Given the description of an element on the screen output the (x, y) to click on. 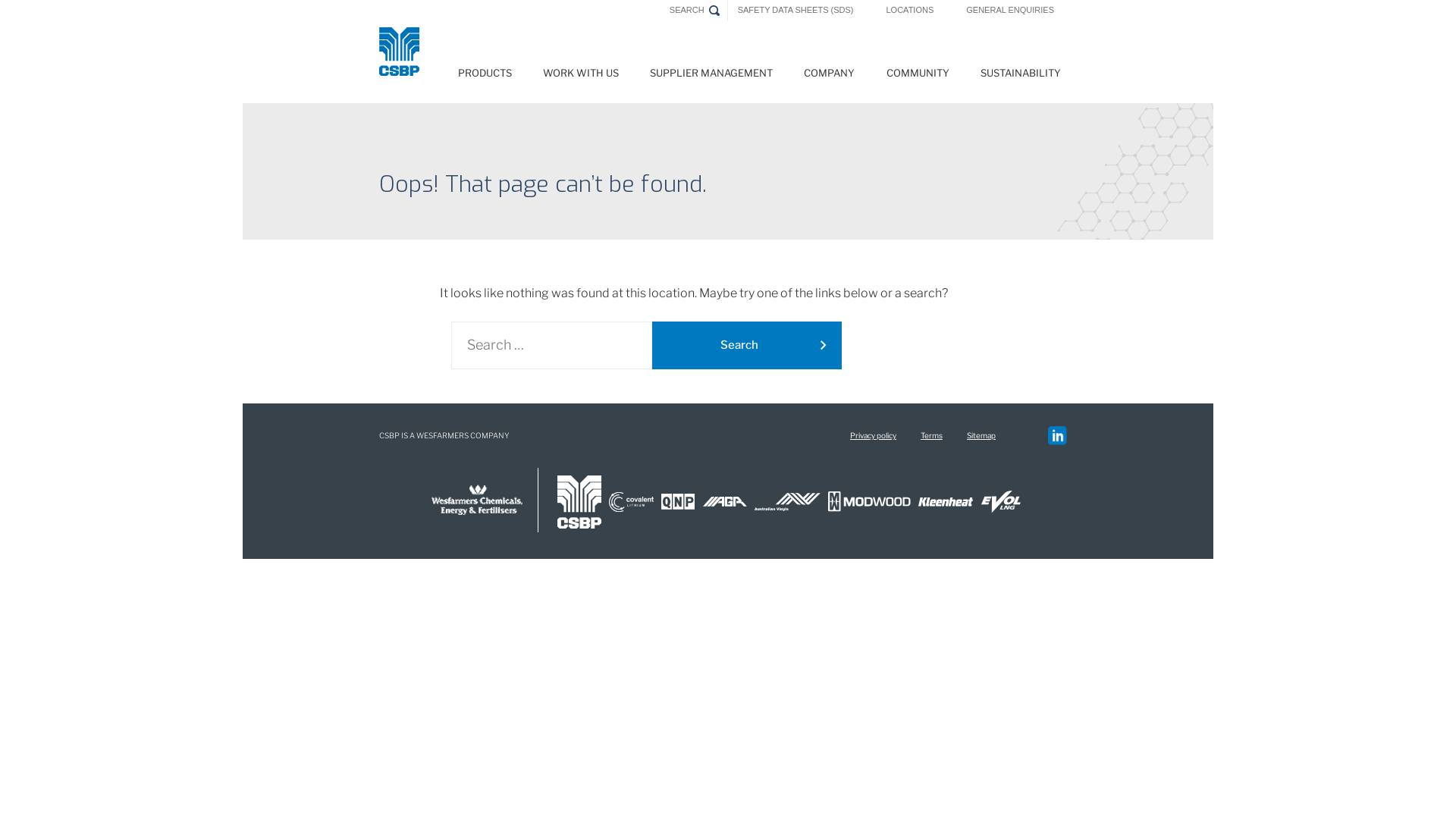
SEARCH Element type: text (687, 10)
SAFETY DATA SHEETS (SDS) Element type: text (795, 10)
SUSTAINABILITY Element type: text (1020, 76)
WORK WITH US Element type: text (580, 76)
Privacy policy Element type: text (873, 435)
LOCATIONS Element type: text (909, 10)
Sitemap Element type: text (980, 435)
PRODUCTS Element type: text (484, 76)
GENERAL ENQUIRIES Element type: text (1009, 10)
Search Element type: text (746, 345)
Terms Element type: text (931, 435)
COMMUNITY Element type: text (917, 76)
COMPANY Element type: text (828, 76)
SUPPLIER MANAGEMENT Element type: text (710, 76)
